Given the description of an element on the screen output the (x, y) to click on. 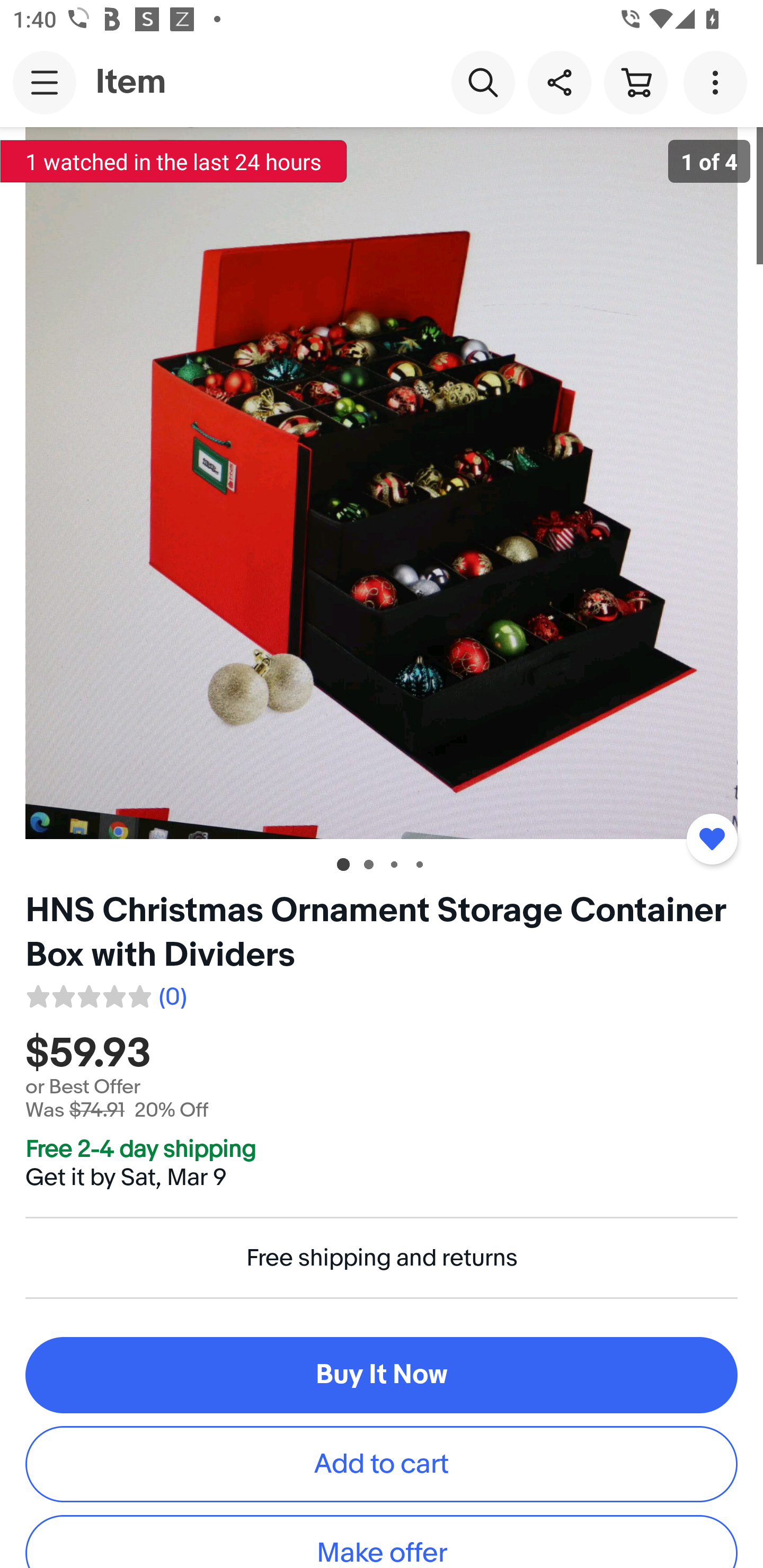
Main navigation, open (44, 82)
Search (482, 81)
Share this item (559, 81)
Cart button shopping cart (635, 81)
More options (718, 81)
Item image 1 of 4 (381, 482)
1 watched in the last 24 hours (173, 161)
Added to watchlist (711, 838)
0 reviews. Average rating 0.0 out of five 0.0 (0) (105, 993)
Buy It Now (381, 1374)
Add to cart (381, 1463)
Make offer (381, 1541)
